Given the description of an element on the screen output the (x, y) to click on. 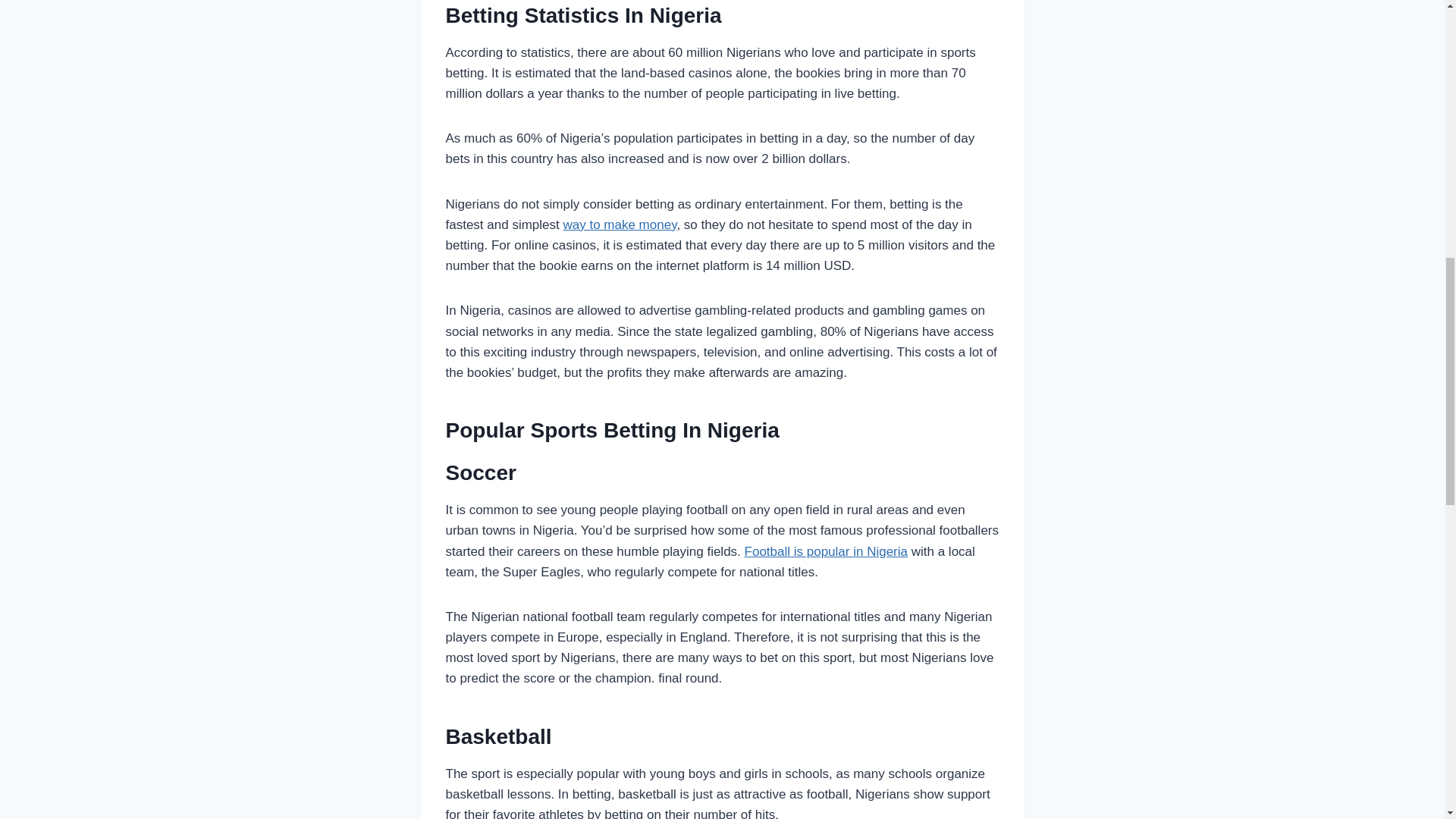
way to make money (619, 224)
Football is popular in Nigeria (825, 551)
way to make money (619, 224)
Football is popular in Nigeria (825, 551)
